Given the description of an element on the screen output the (x, y) to click on. 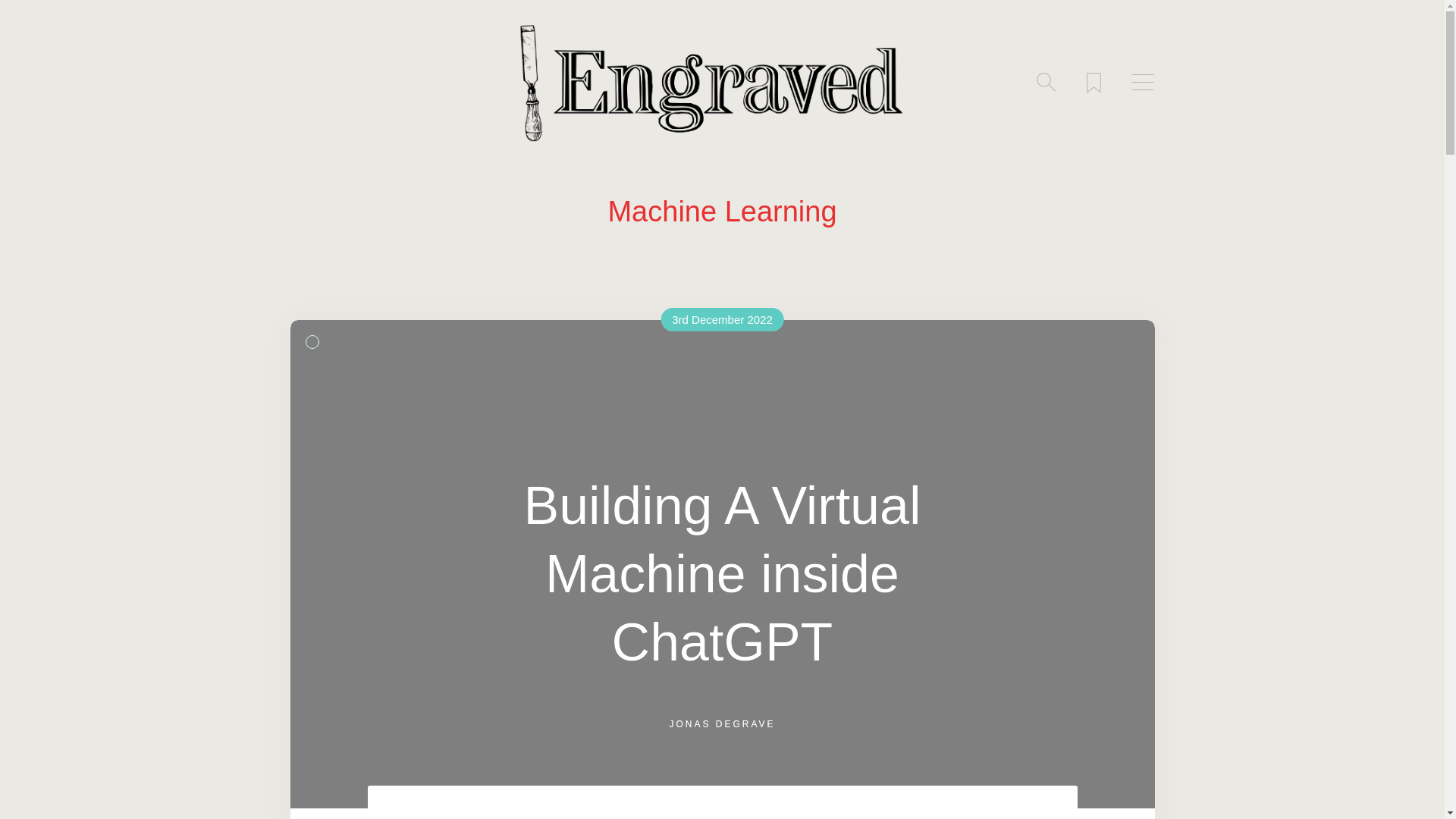
Engraved (721, 82)
JONAS DEGRAVE (721, 724)
